Given the description of an element on the screen output the (x, y) to click on. 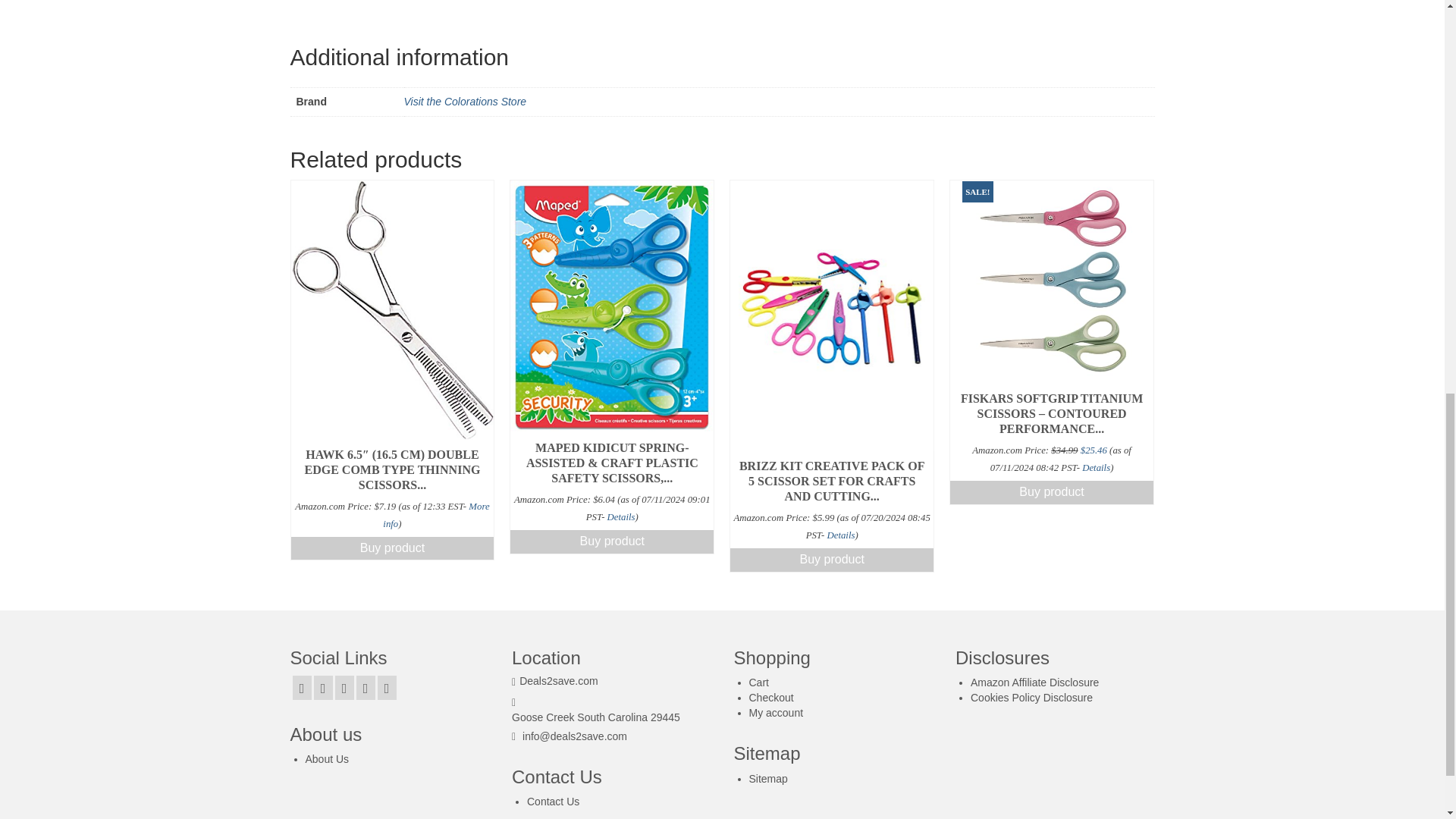
SALE! (1051, 282)
More info (435, 515)
Details (1095, 467)
Visit the Colorations Store (464, 101)
Buy product (612, 541)
Facebook (301, 687)
Contact Us (553, 801)
Buy product (831, 559)
Details (840, 534)
Tumblr (386, 687)
About Us (326, 758)
My account (776, 712)
LinkedIn (365, 687)
Buy product (393, 548)
